Given the description of an element on the screen output the (x, y) to click on. 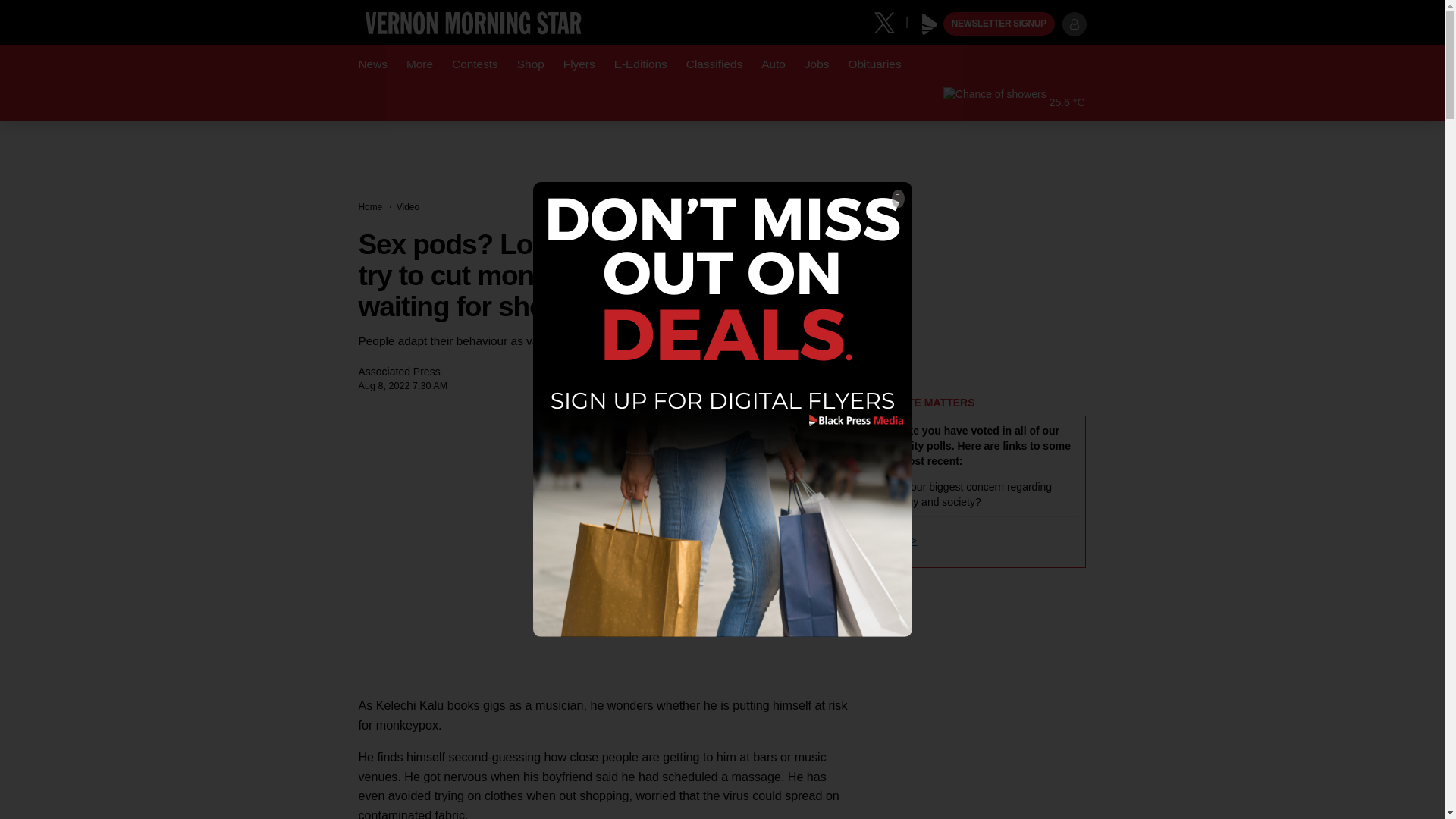
Play (929, 24)
X (889, 21)
Black Press Media (929, 24)
NEWSLETTER SIGNUP (998, 24)
News (372, 64)
